Given the description of an element on the screen output the (x, y) to click on. 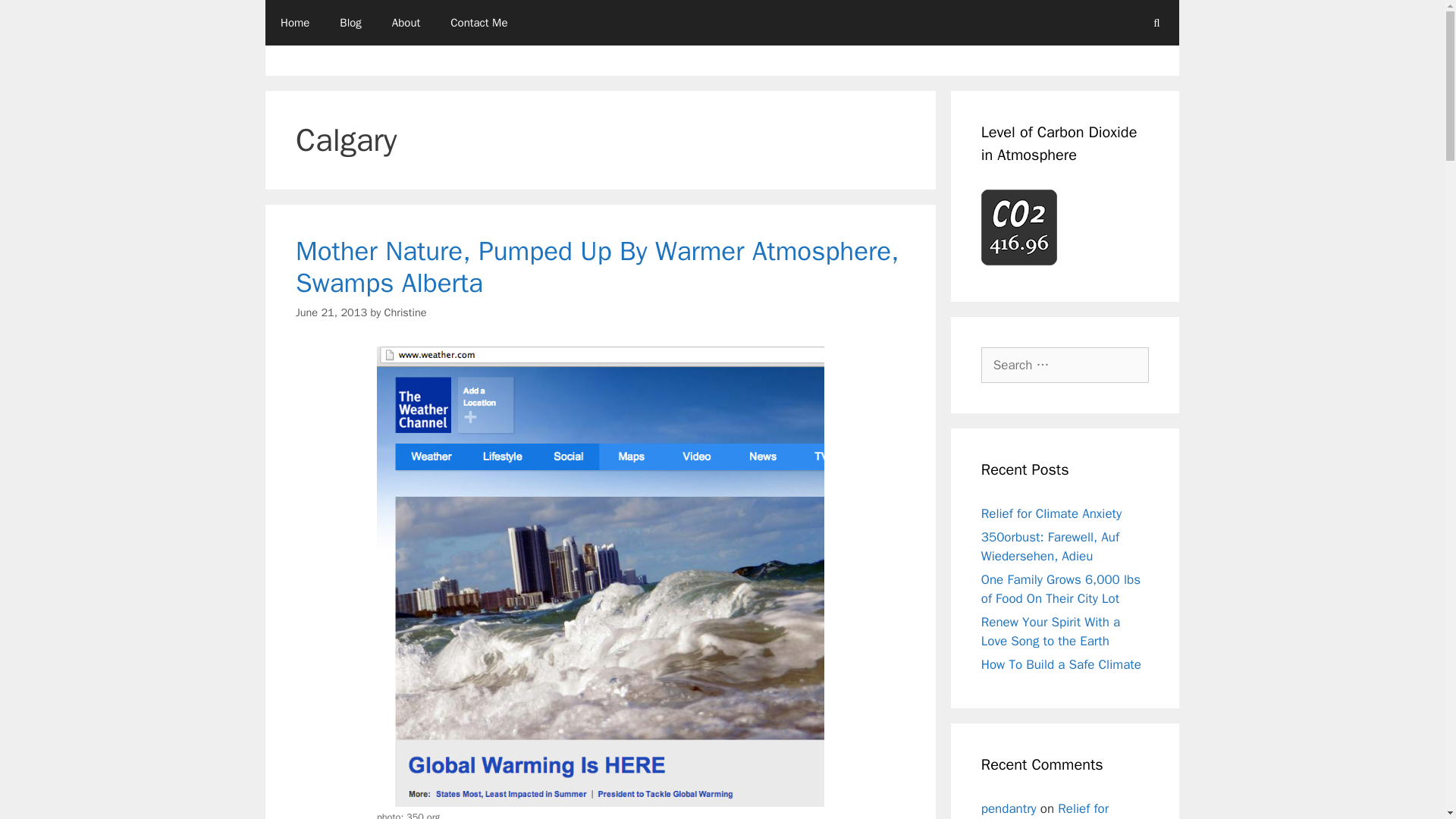
Home (294, 22)
Search for: (1064, 365)
About (406, 22)
Blog (349, 22)
View all posts by Christine (405, 312)
Christine (405, 312)
Earth's latest data for atmospheric CO2 (1019, 227)
Contact Me (478, 22)
